Given the description of an element on the screen output the (x, y) to click on. 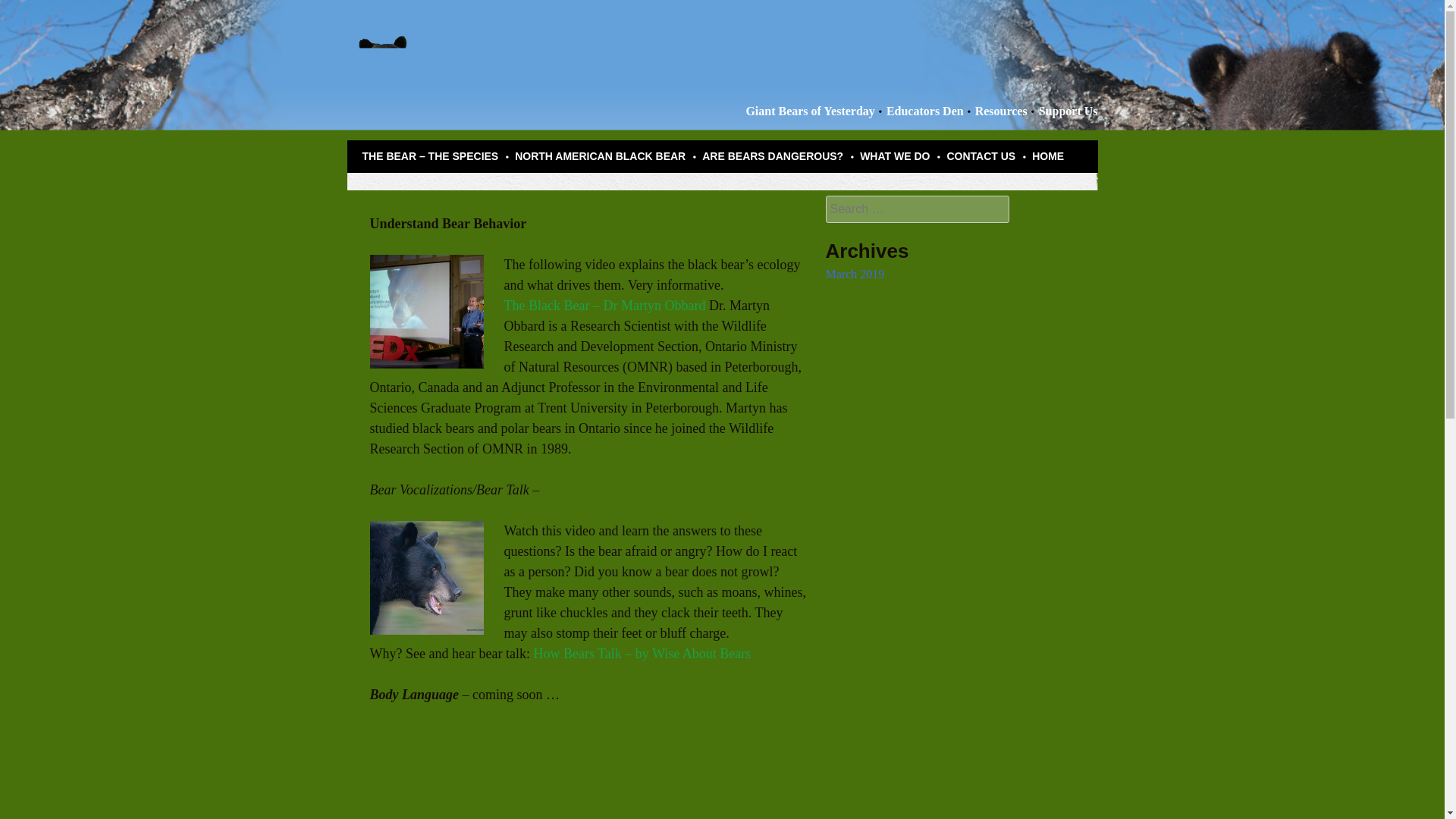
CONTACT US (980, 156)
Giant Bears of Yesterday (810, 111)
ARE BEARS DANGEROUS? (772, 156)
HOME (1048, 156)
Search (25, 9)
Resources (1001, 111)
March 2019 (854, 273)
WHAT WE DO (895, 156)
Educators Den (924, 111)
Support Us (1068, 111)
